Given the description of an element on the screen output the (x, y) to click on. 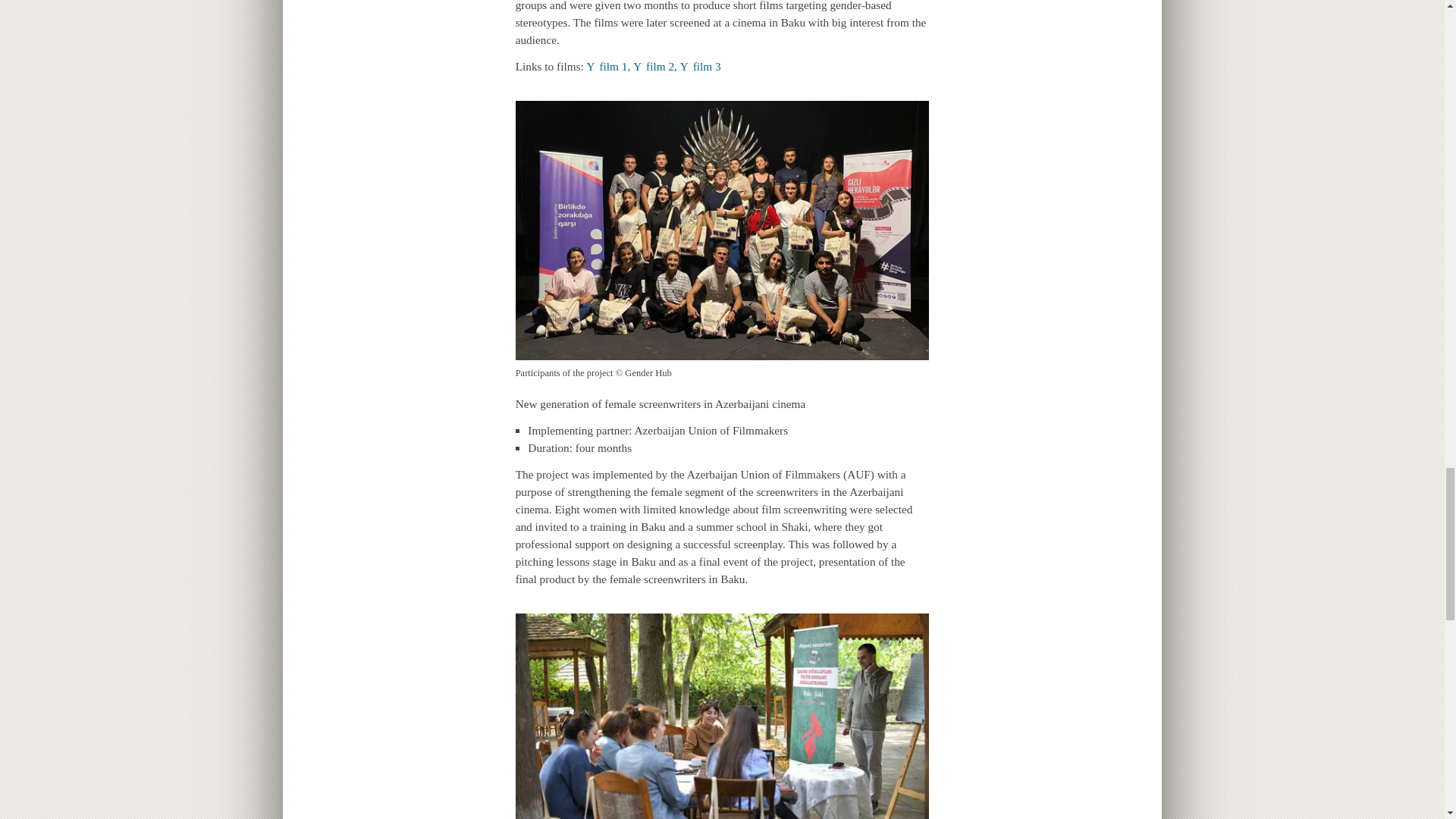
External Link (699, 65)
External Link (606, 65)
External Link (653, 65)
